Given the description of an element on the screen output the (x, y) to click on. 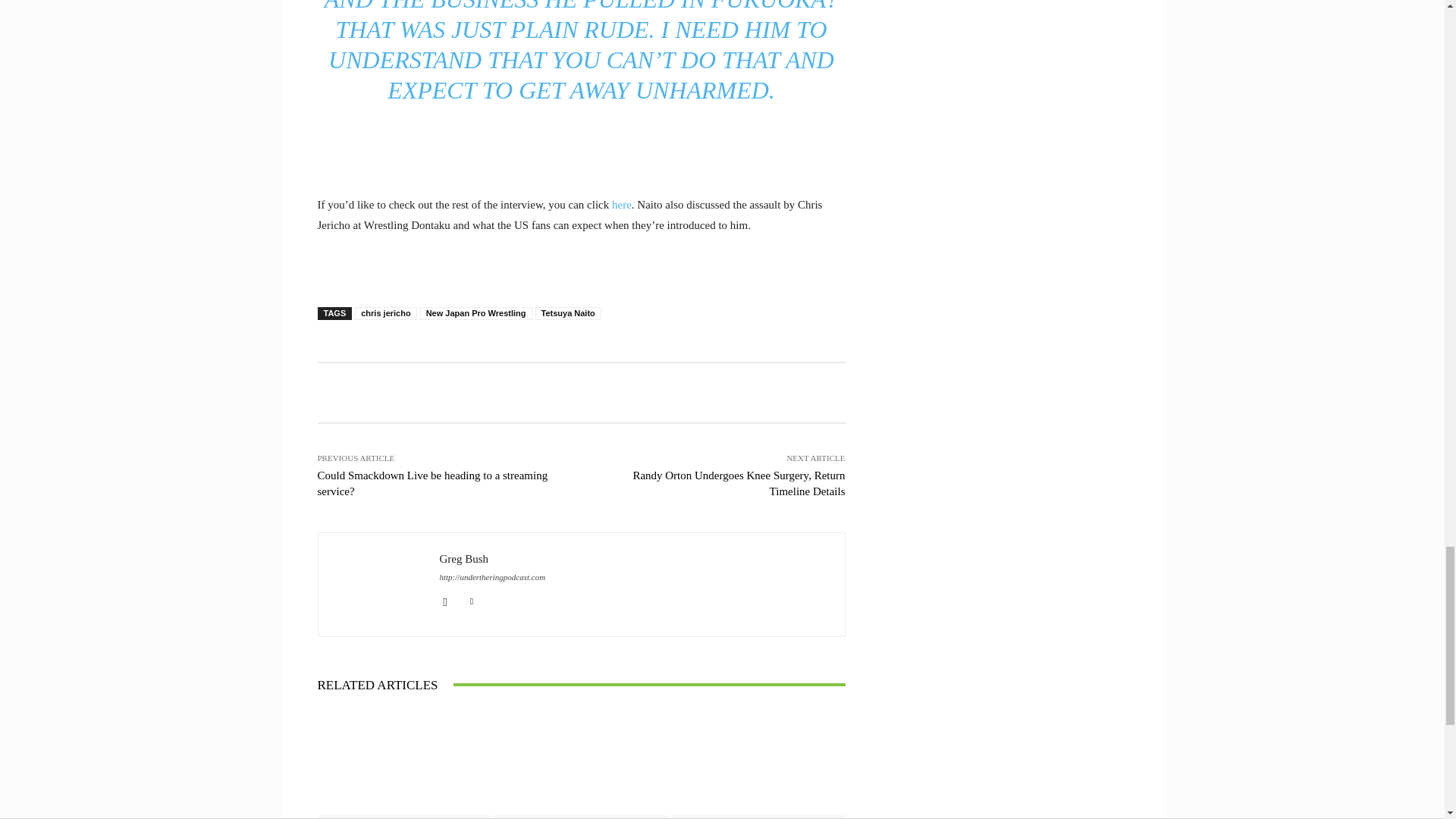
Nikki Bella Sad 911 Call To Cops Leaks (403, 764)
Greg Bush (379, 583)
WWE SmackDown Full Spoilers For Tonight (581, 764)
Twitter (471, 599)
Facebook (445, 599)
